Given the description of an element on the screen output the (x, y) to click on. 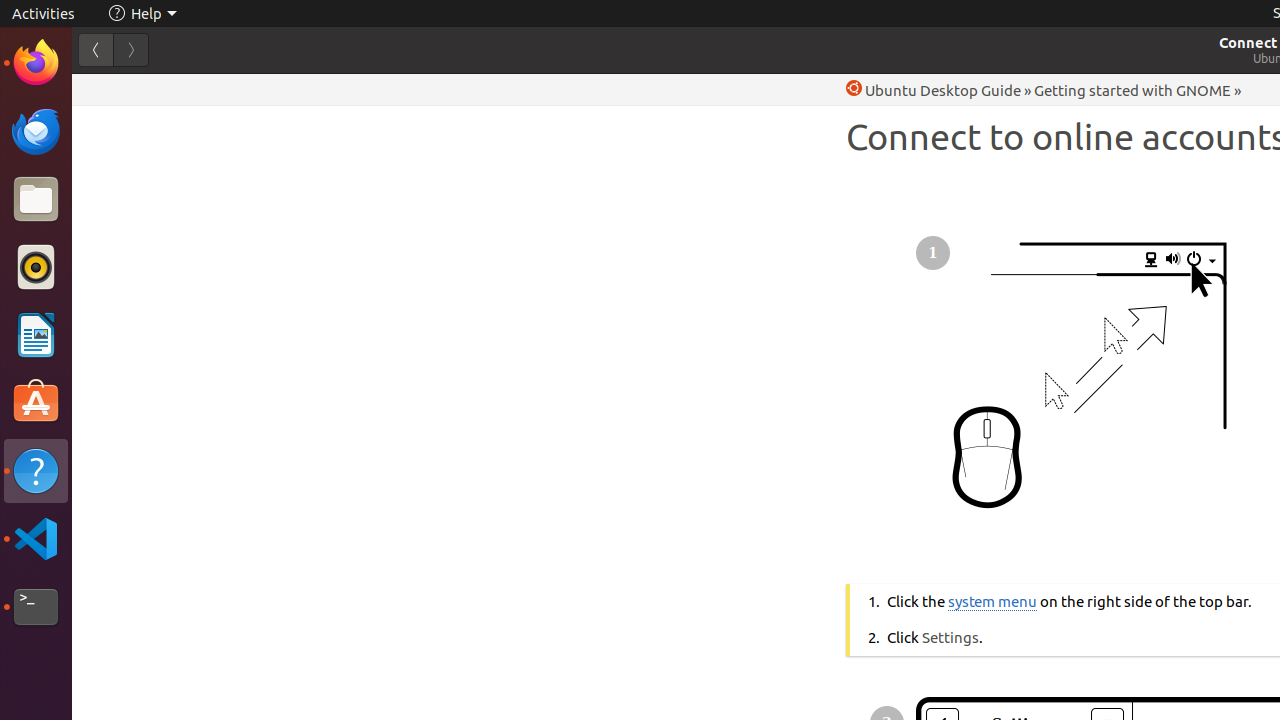
Terminal Element type: push-button (36, 607)
